Given the description of an element on the screen output the (x, y) to click on. 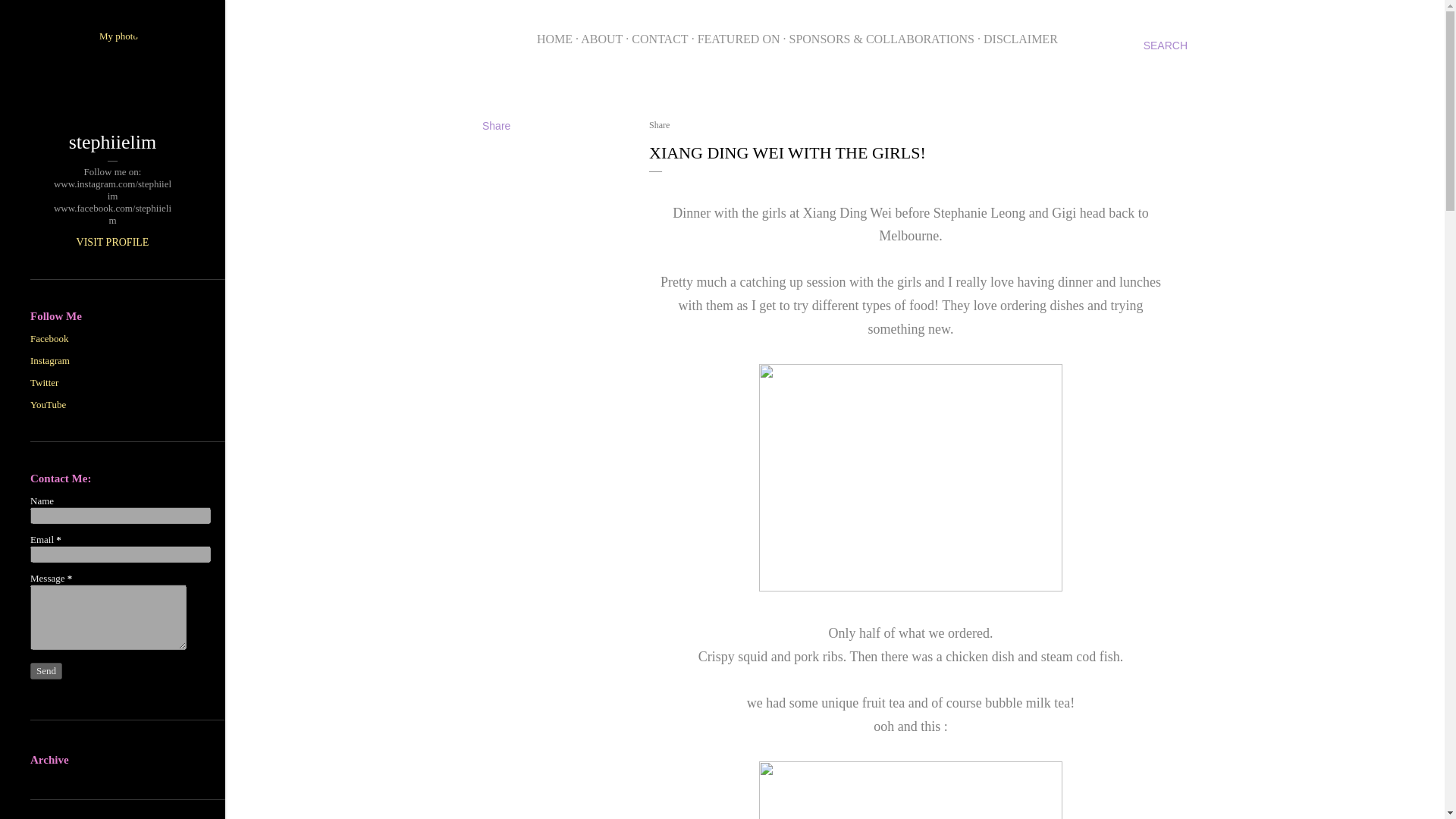
SEARCH (1165, 45)
HOME (554, 38)
Send (46, 670)
FEATURED ON (738, 38)
DISCLAIMER (1021, 38)
Share (496, 125)
Share (659, 125)
CONTACT (659, 38)
ABOUT (601, 38)
